Given the description of an element on the screen output the (x, y) to click on. 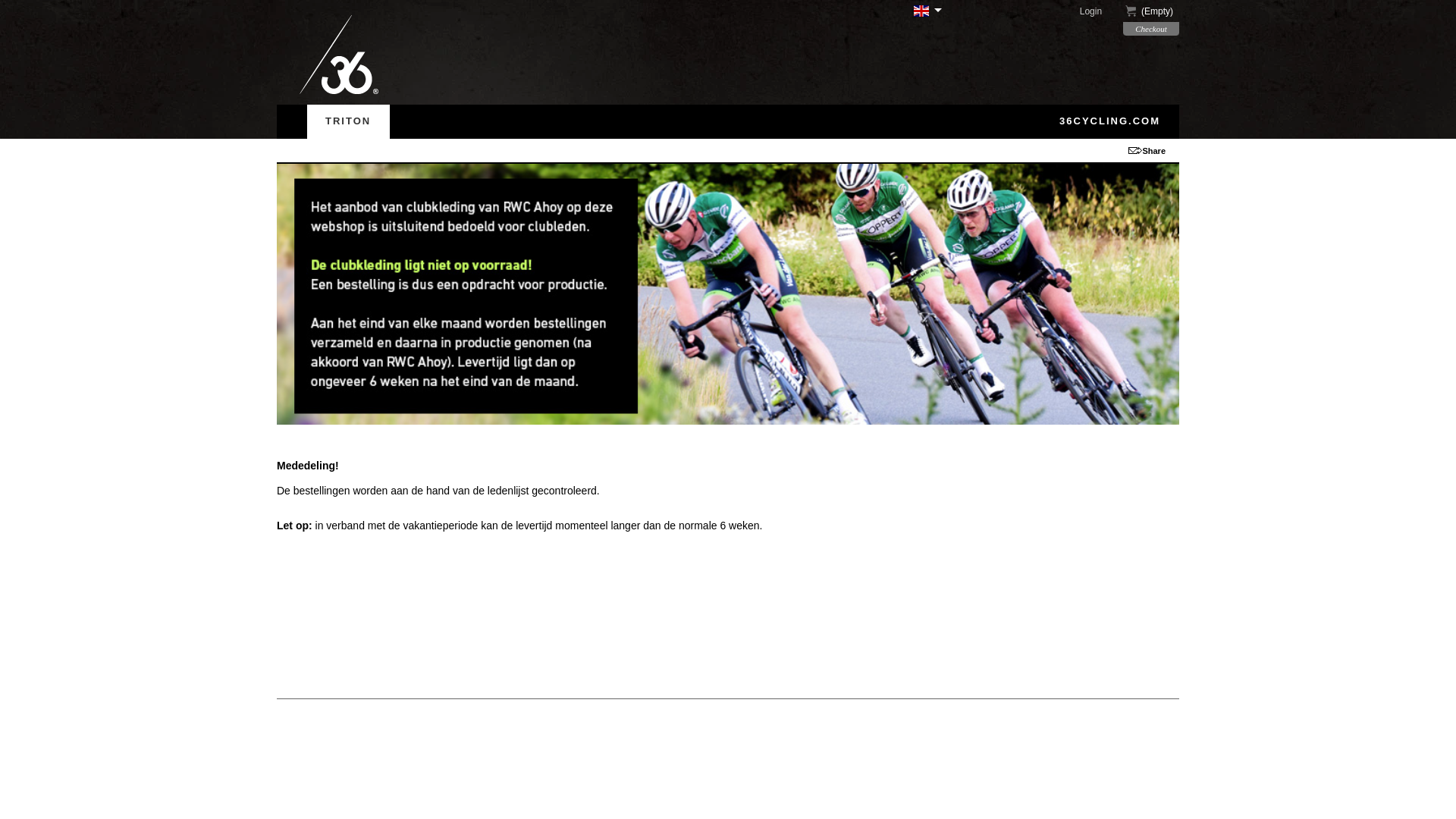
(Empty) Element type: text (1151, 11)
Share Element type: text (1153, 150)
Checkout Element type: text (1151, 28)
36CYCLING.COM Element type: text (1110, 120)
TRITON Element type: text (348, 120)
Login Element type: text (1099, 10)
